Given the description of an element on the screen output the (x, y) to click on. 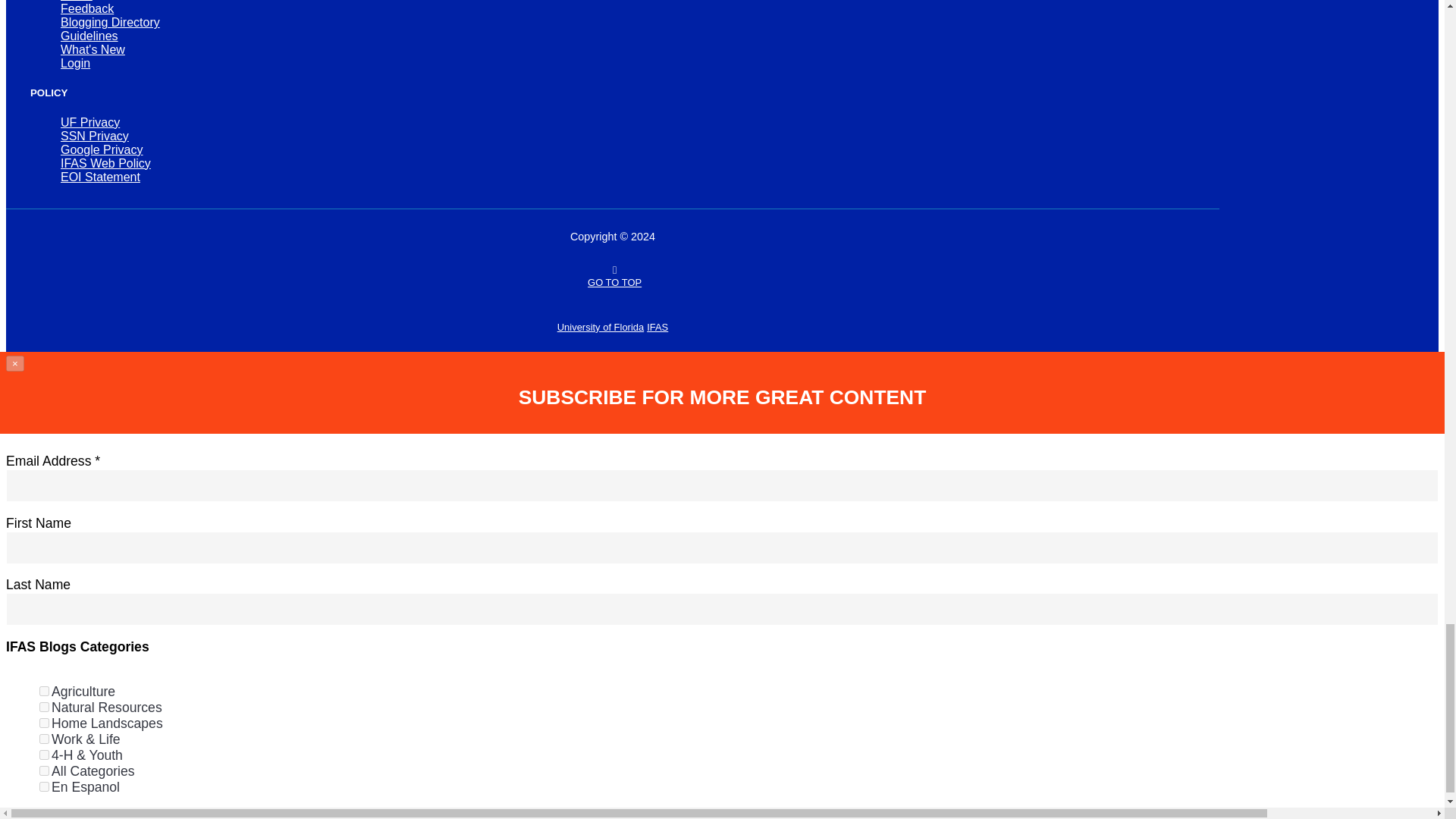
2 (44, 706)
4 (44, 723)
64 (44, 786)
32 (44, 770)
8 (44, 738)
1 (44, 691)
16 (44, 755)
